Given the description of an element on the screen output the (x, y) to click on. 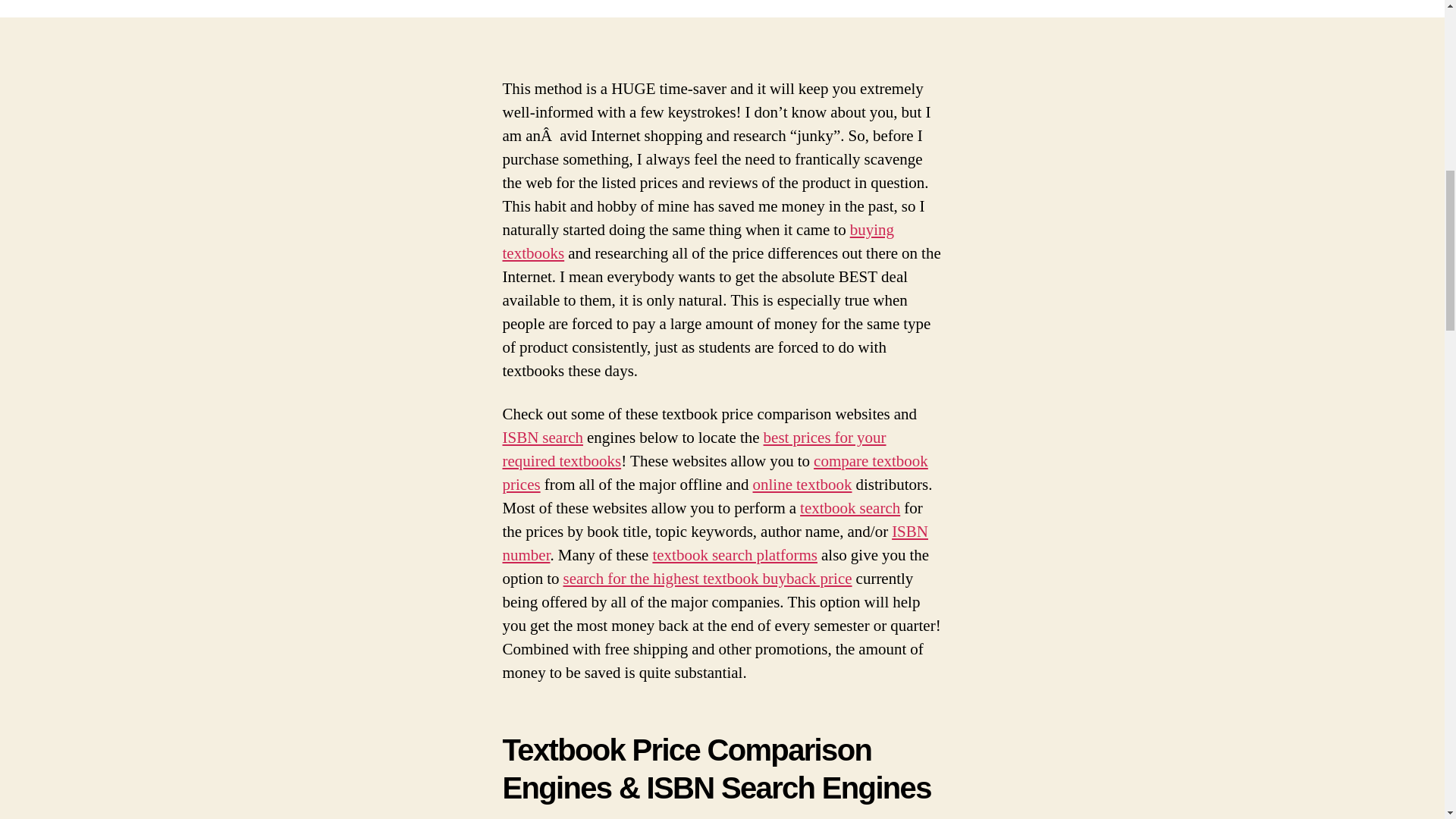
Online Textbooks (801, 485)
